Given the description of an element on the screen output the (x, y) to click on. 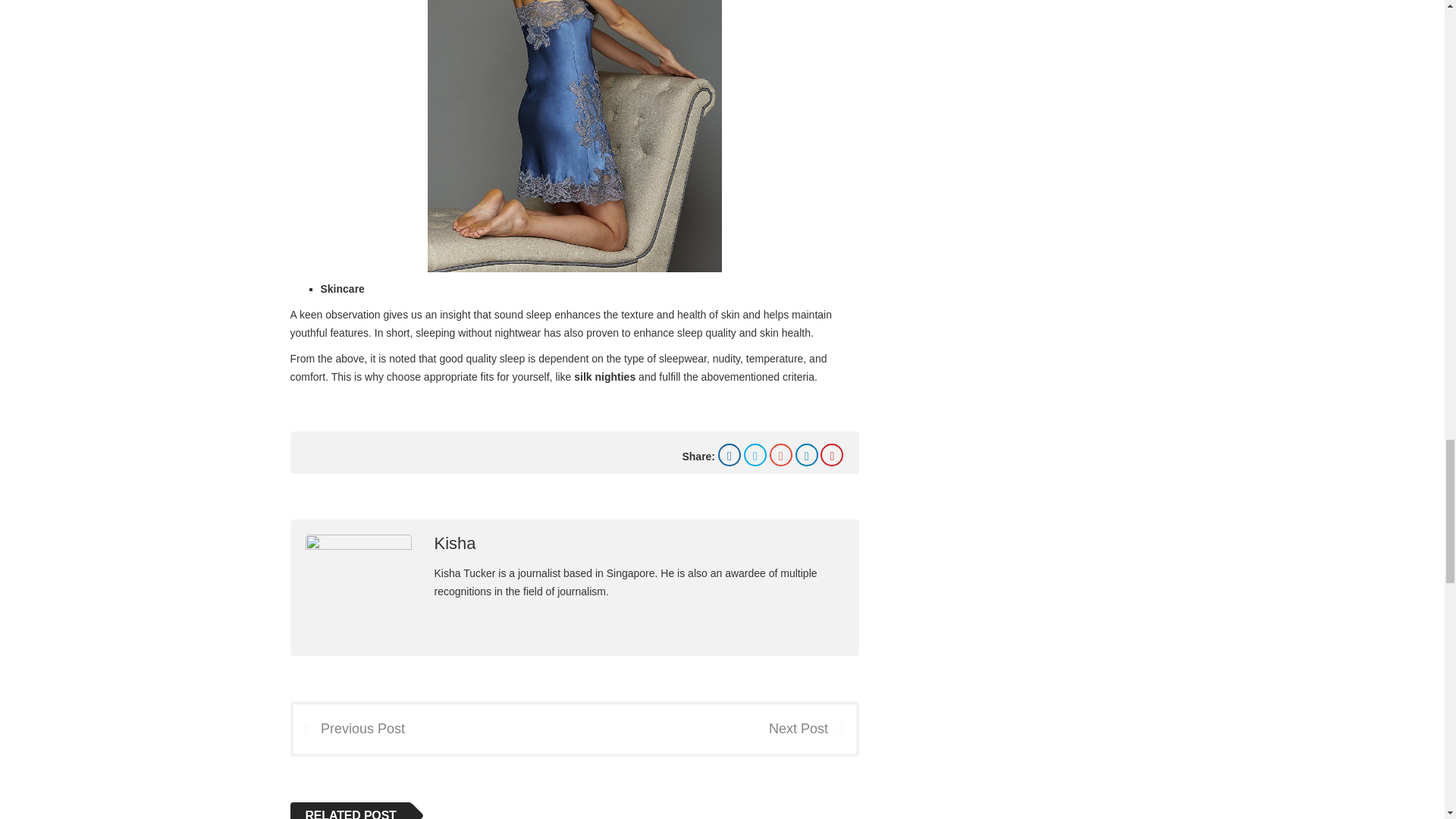
Google Plus (781, 454)
silk nighties (603, 377)
Kisha (454, 542)
Pinterest (832, 454)
Twitter (755, 454)
Previous Post (348, 728)
Facebook (729, 454)
Next Post (812, 728)
Linkedin (806, 454)
